Given the description of an element on the screen output the (x, y) to click on. 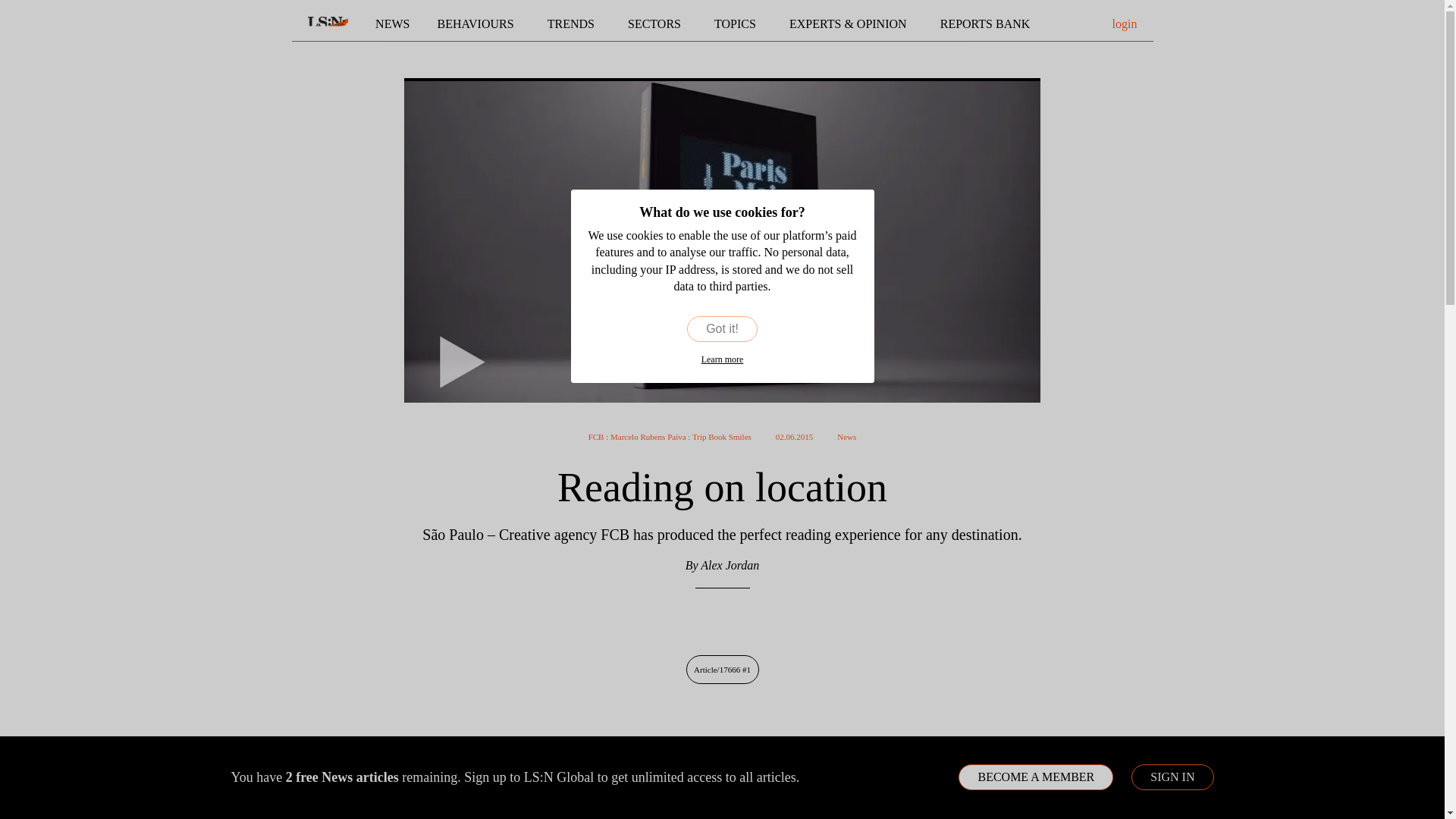
Trends (573, 24)
Behaviours (478, 24)
BEHAVIOURS (478, 24)
LS:N Global (327, 24)
TRENDS (573, 24)
News (392, 24)
NEWS (392, 24)
